Given the description of an element on the screen output the (x, y) to click on. 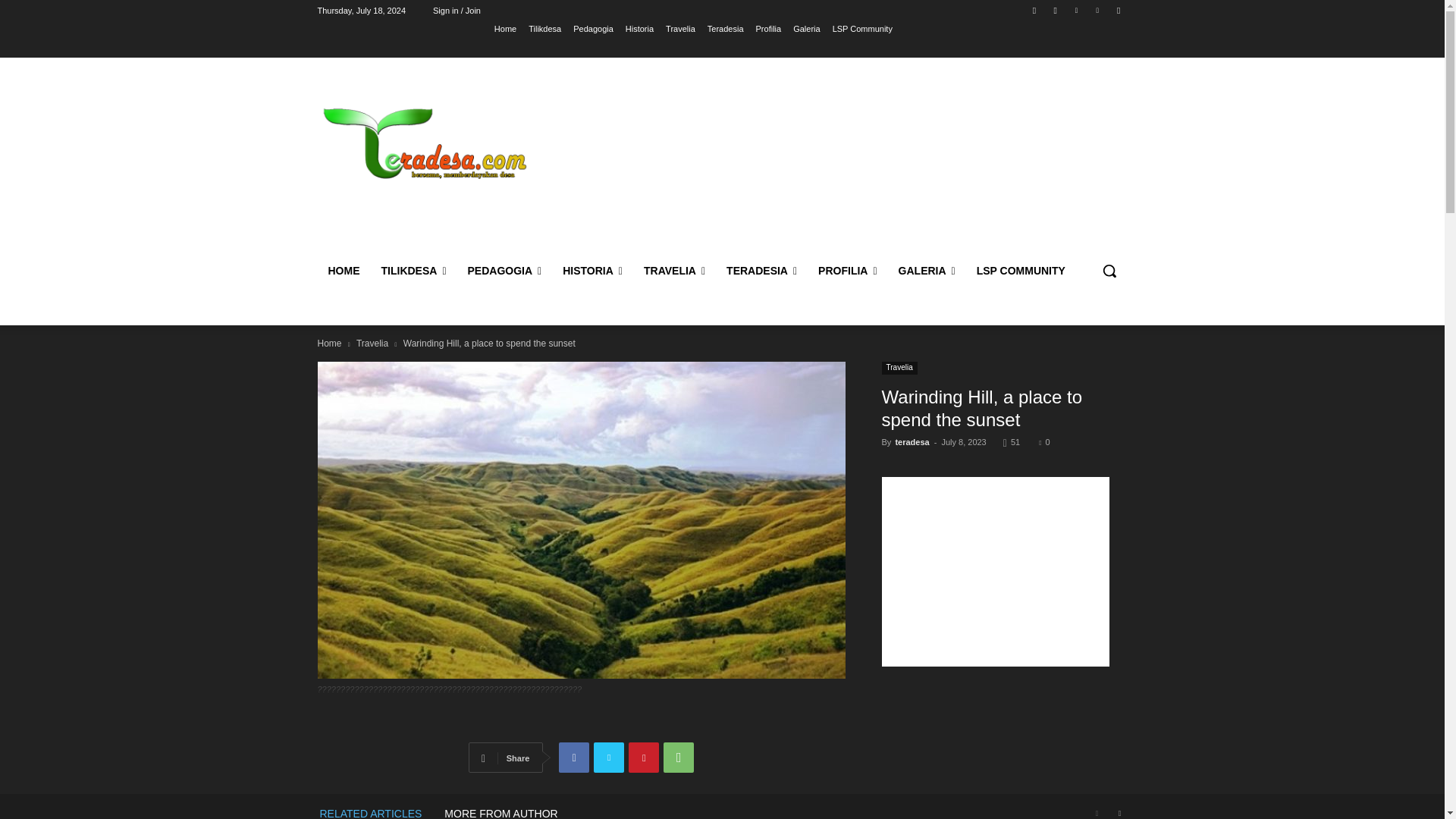
Pedagogia (592, 28)
Advertisement (846, 160)
LSP Community (862, 28)
Twitter (1075, 9)
Facebook (1034, 9)
Historia (639, 28)
Home (505, 28)
Vimeo (1097, 9)
Profilia (768, 28)
Teradesia (725, 28)
Galeria (806, 28)
Youtube (1117, 9)
Instagram (1055, 9)
Tilikdesa (544, 28)
Travelia (680, 28)
